Given the description of an element on the screen output the (x, y) to click on. 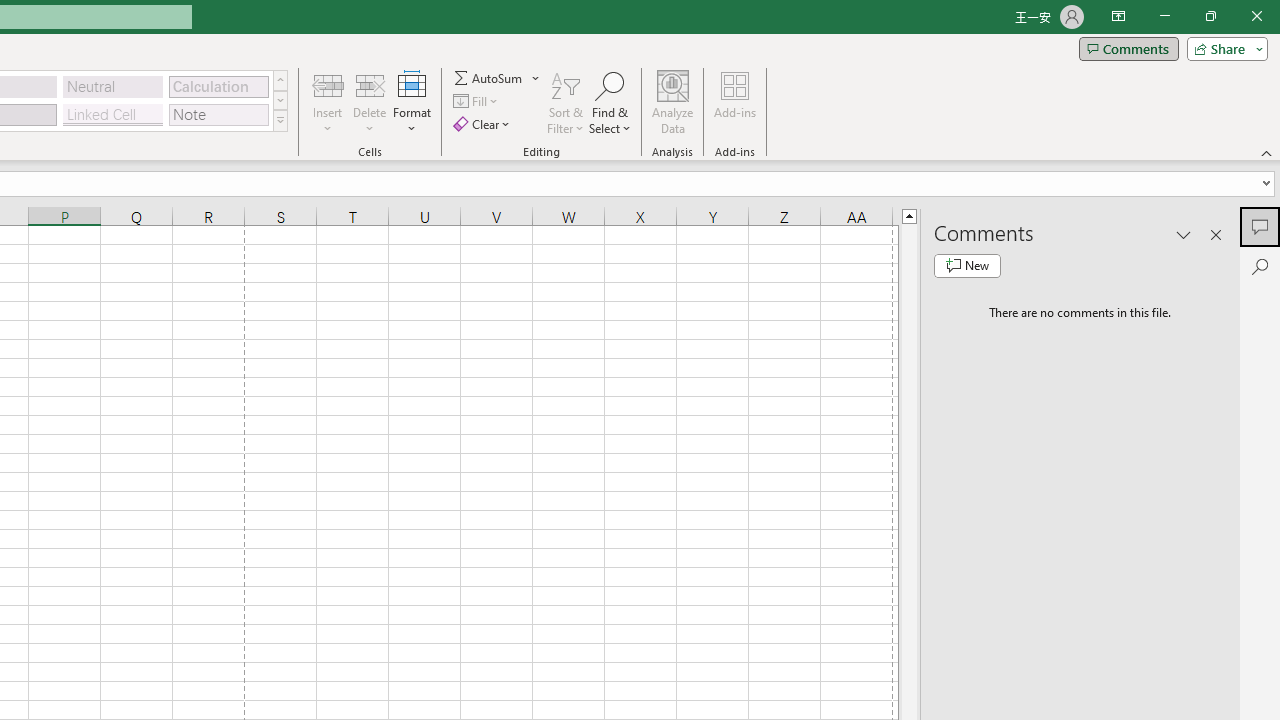
Cell Styles (280, 120)
Sum (489, 78)
Fill (477, 101)
Note (218, 114)
Linked Cell (113, 114)
